Given the description of an element on the screen output the (x, y) to click on. 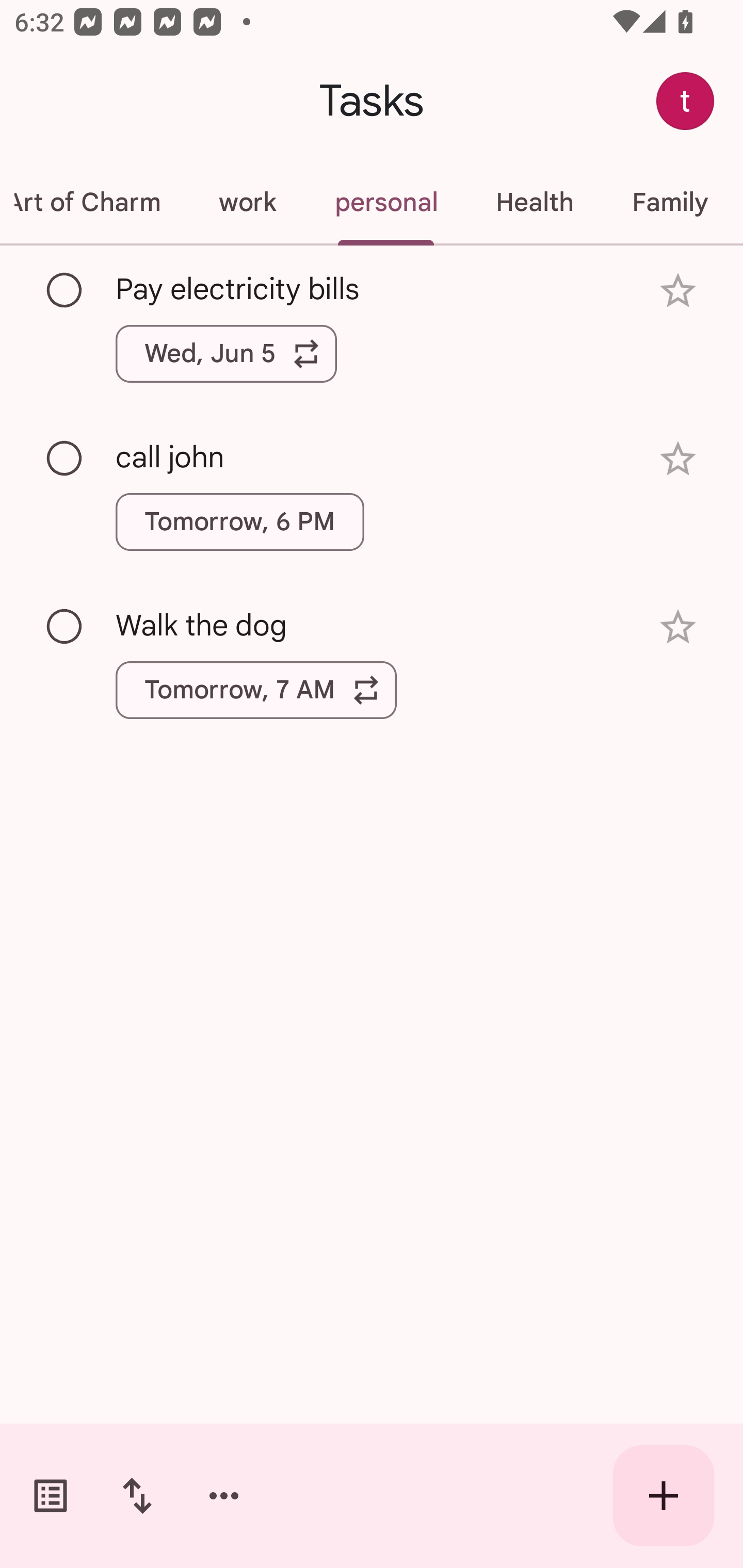
The Art of Charm (94, 202)
work (247, 202)
Health (534, 202)
Family (669, 202)
Add star (677, 290)
Mark as complete (64, 290)
Wed, Jun 5 (225, 353)
Add star (677, 458)
Mark as complete (64, 459)
Tomorrow, 6 PM (239, 522)
Add star (677, 627)
Mark as complete (64, 627)
Tomorrow, 7 AM (255, 689)
Switch task lists (50, 1495)
Create new task (663, 1495)
Change sort order (136, 1495)
More options (223, 1495)
